Given the description of an element on the screen output the (x, y) to click on. 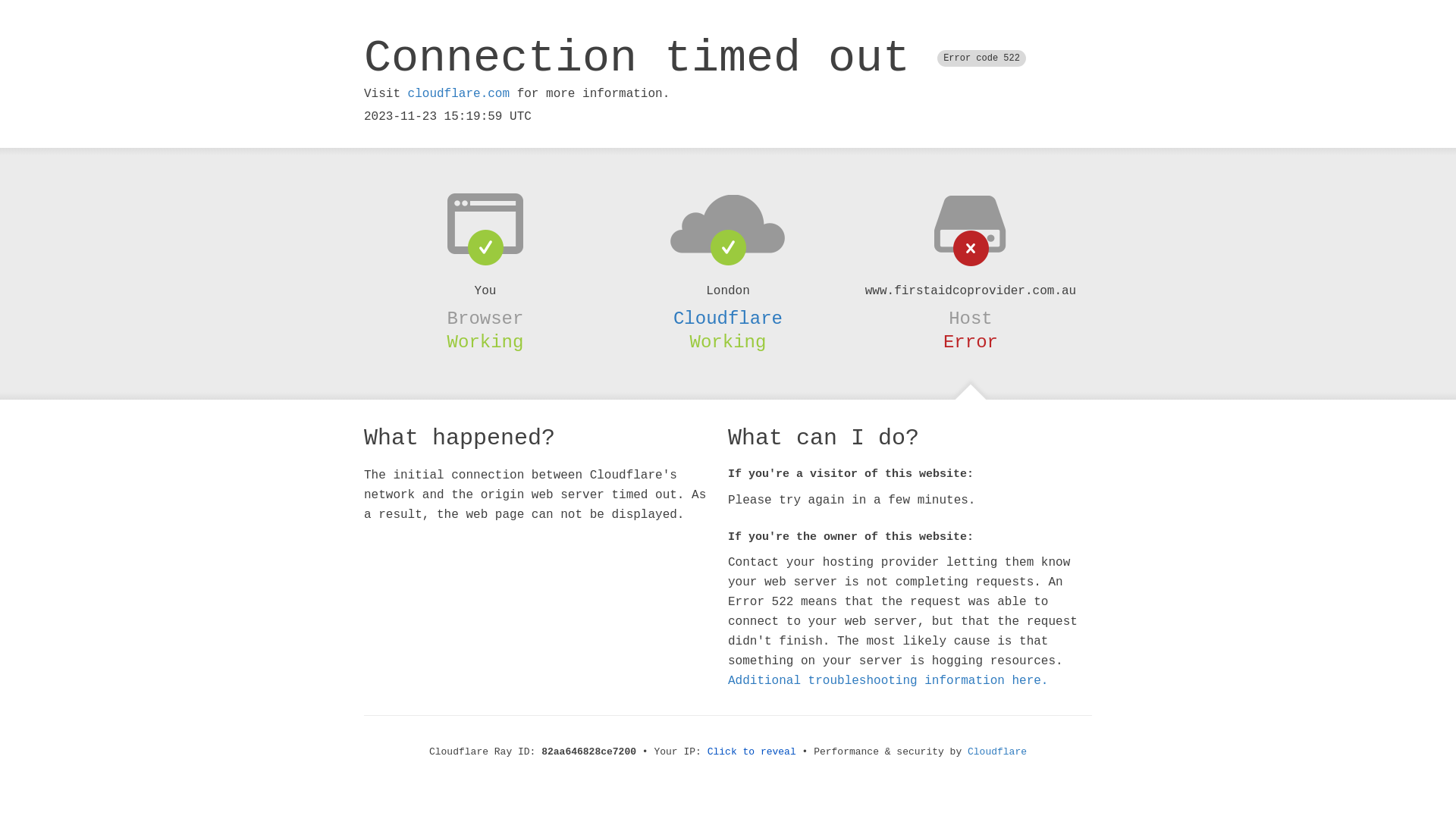
Additional troubleshooting information here. Element type: text (888, 680)
Cloudflare Element type: text (996, 751)
Click to reveal Element type: text (751, 751)
cloudflare.com Element type: text (458, 93)
Cloudflare Element type: text (727, 318)
